Given the description of an element on the screen output the (x, y) to click on. 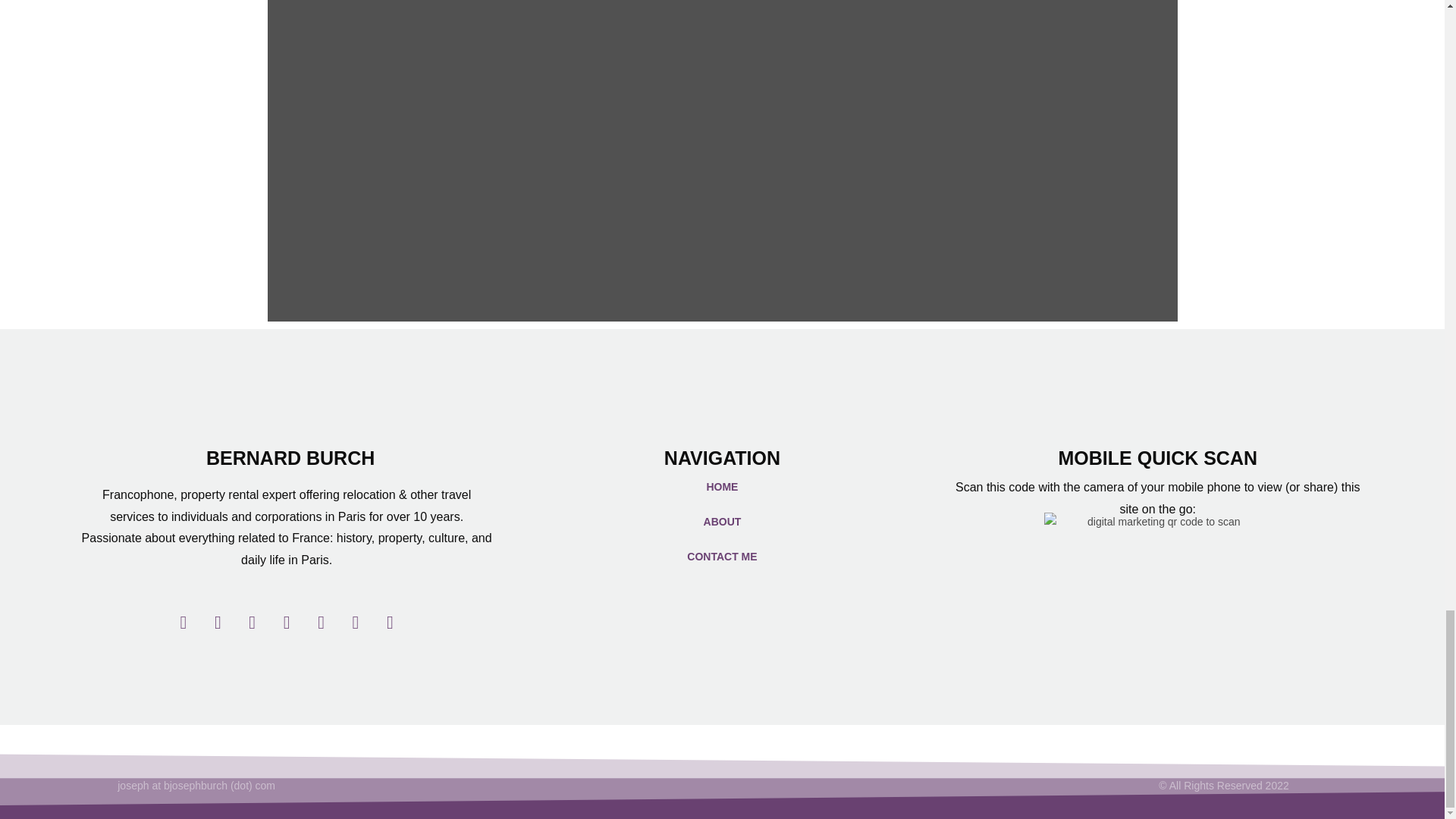
CONTACT ME (721, 556)
HOME (721, 486)
ABOUT (721, 521)
